Given the description of an element on the screen output the (x, y) to click on. 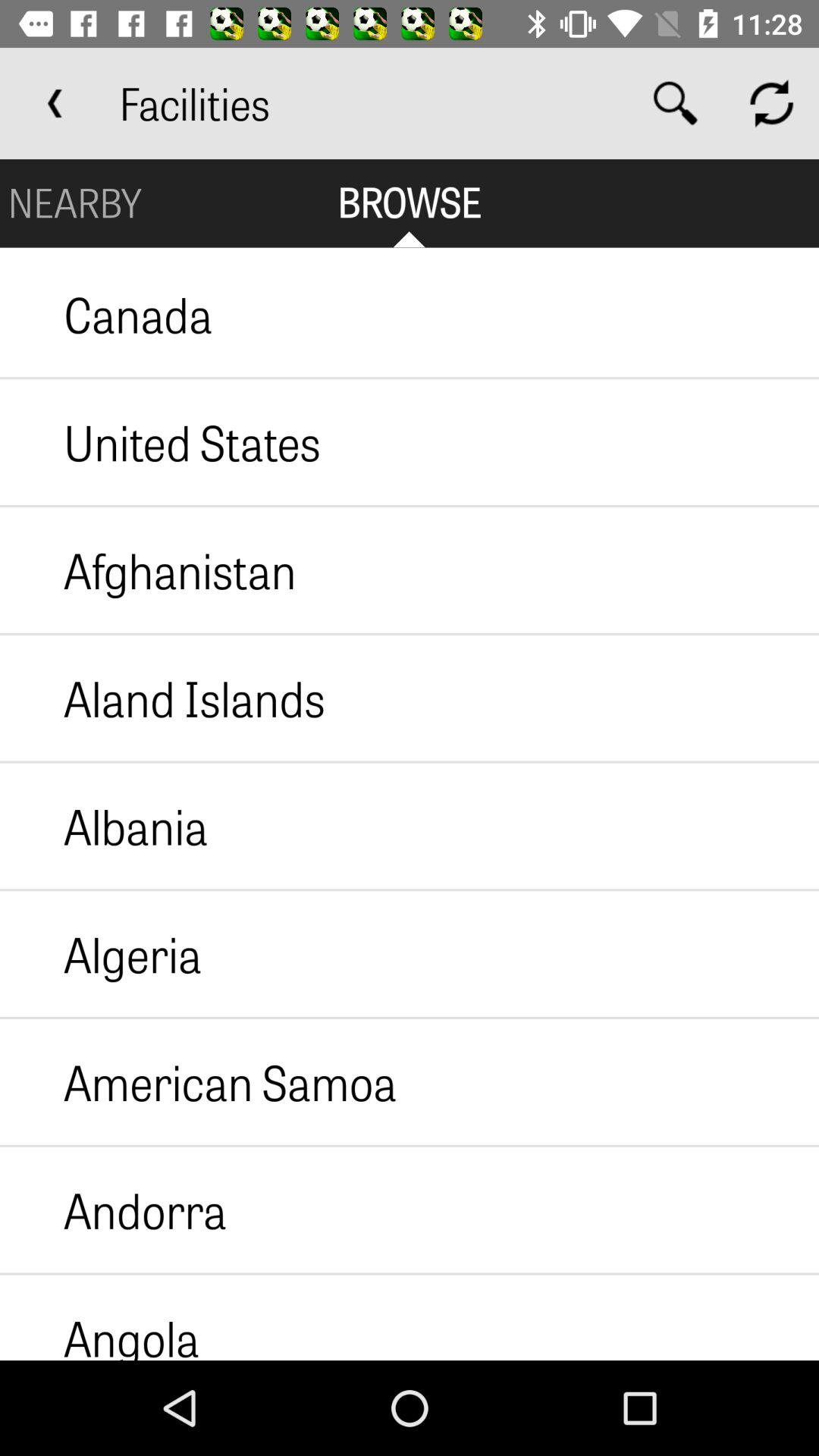
click the albania item (104, 825)
